Given the description of an element on the screen output the (x, y) to click on. 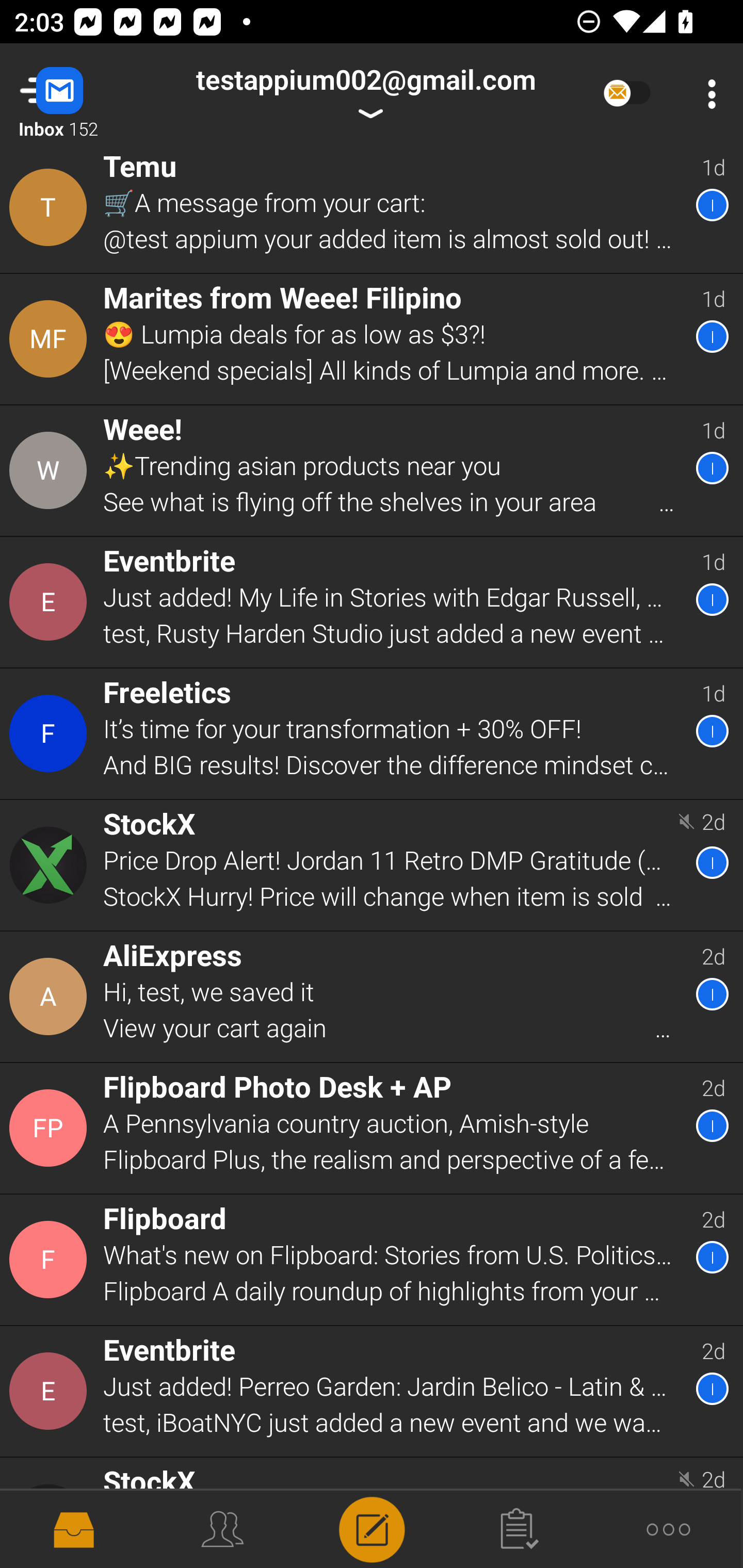
Navigate up (81, 93)
testappium002@gmail.com (365, 93)
More Options (706, 93)
Contact Details (50, 208)
Contact Details (50, 339)
Contact Details (50, 471)
Contact Details (50, 601)
Contact Details (50, 733)
Contact Details (50, 864)
Contact Details (50, 996)
Contact Details (50, 1128)
Contact Details (50, 1259)
Contact Details (50, 1391)
Compose (371, 1528)
